Given the description of an element on the screen output the (x, y) to click on. 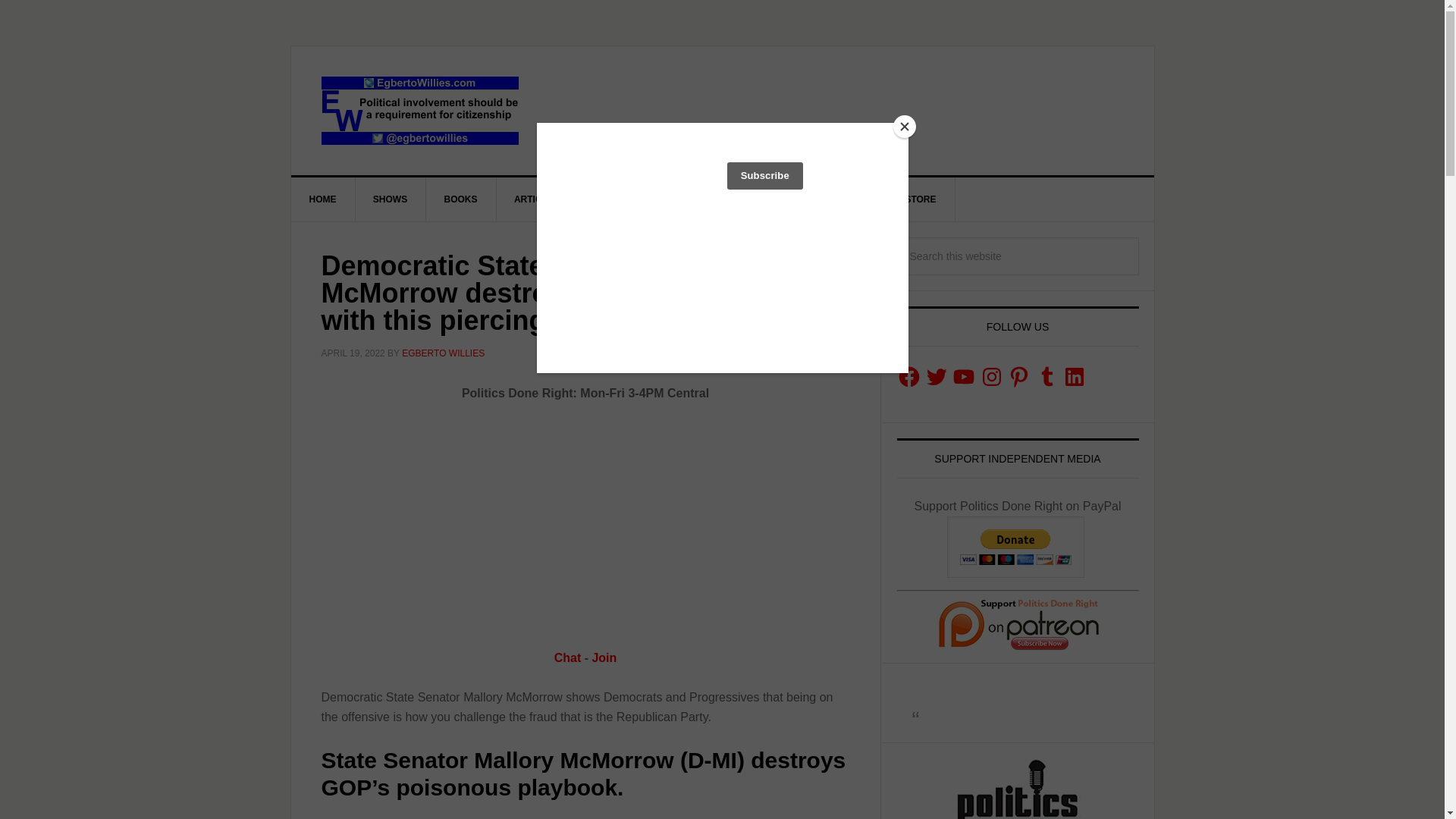
SHOWS (390, 199)
ACTIVISM (618, 199)
HOME (323, 199)
BOOKS (461, 199)
SOCIAL (693, 199)
ARTICLES (537, 199)
EGBERTOWILLIES.COM (419, 110)
PayPal - The safer, easier way to pay online! (1015, 547)
